Given the description of an element on the screen output the (x, y) to click on. 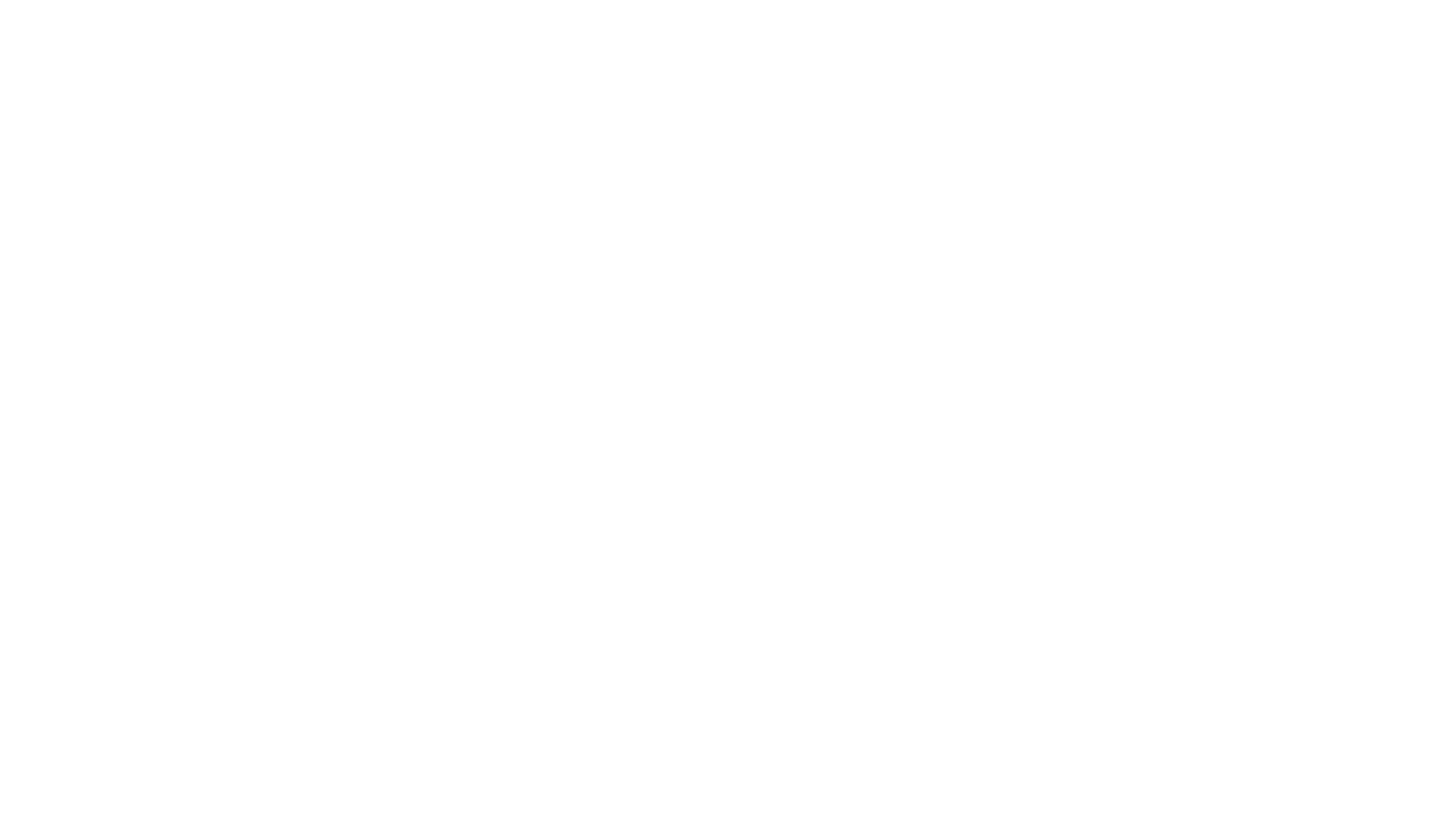
Find Out More Element type: text (356, 465)
Cadbury Element type: text (1023, 36)
Scroll Element type: text (727, 739)
Social Responsibility Element type: text (912, 36)
About Us Element type: text (580, 36)
Our Desserts Element type: text (675, 36)
Get In Touch Element type: text (1116, 36)
Dessert Trends Element type: text (785, 36)
